Given the description of an element on the screen output the (x, y) to click on. 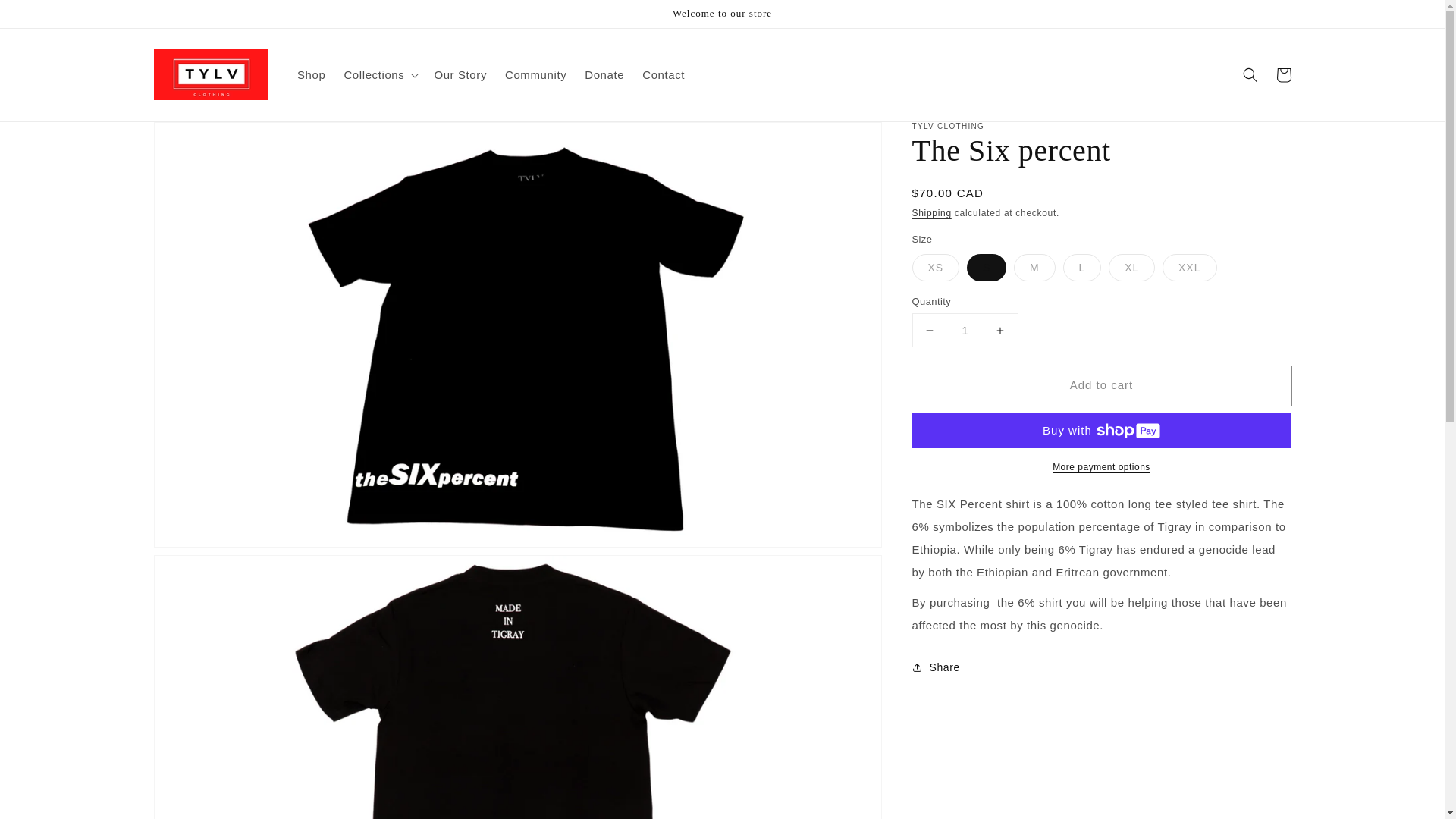
Decrease quantity for The Six percent (929, 329)
Donate (604, 74)
Increase quantity for The Six percent (999, 329)
Shipping (930, 213)
Skip to content (45, 16)
